Given the description of an element on the screen output the (x, y) to click on. 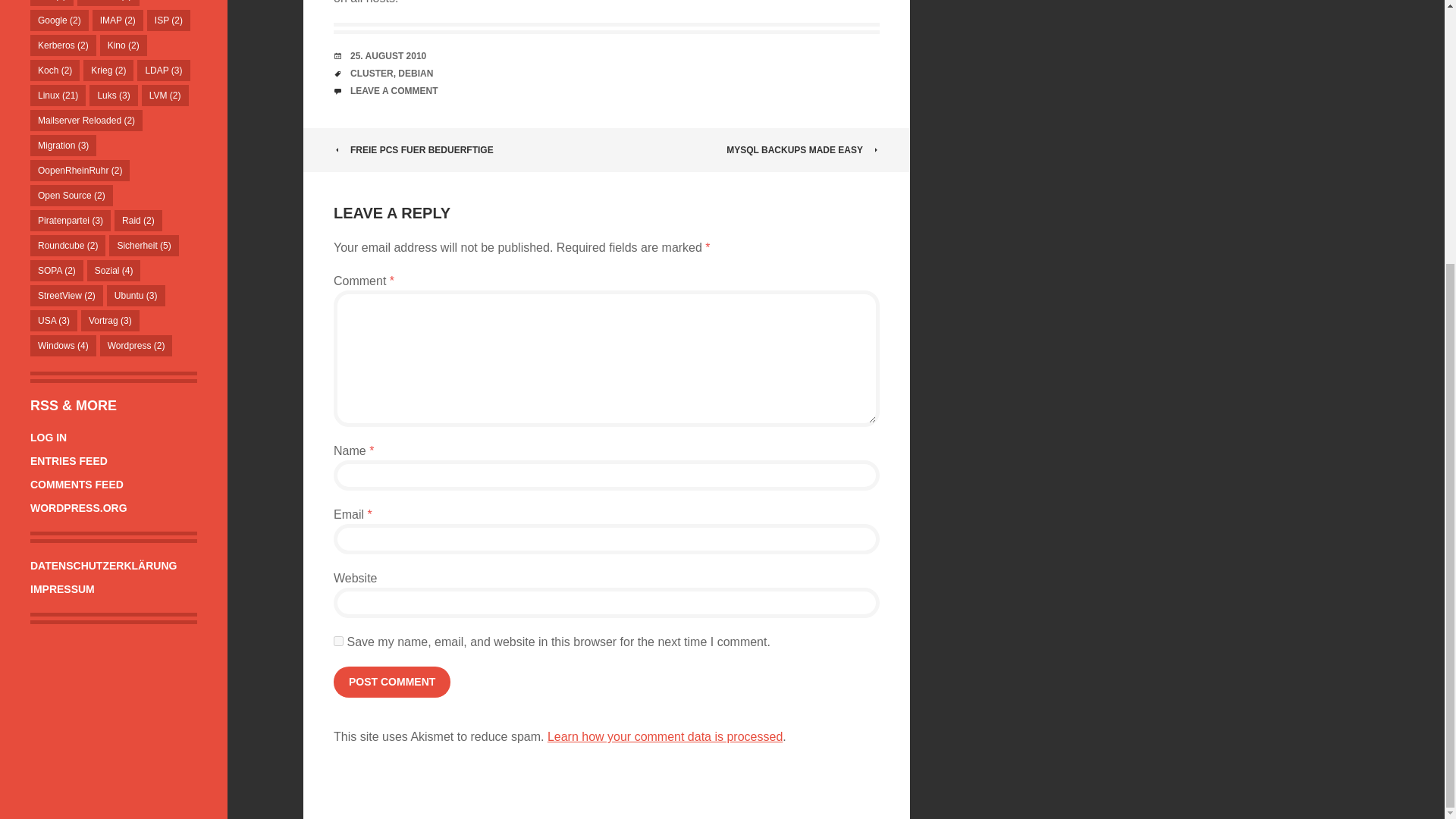
21:22 (388, 55)
Post Comment (391, 681)
yes (338, 641)
